Given the description of an element on the screen output the (x, y) to click on. 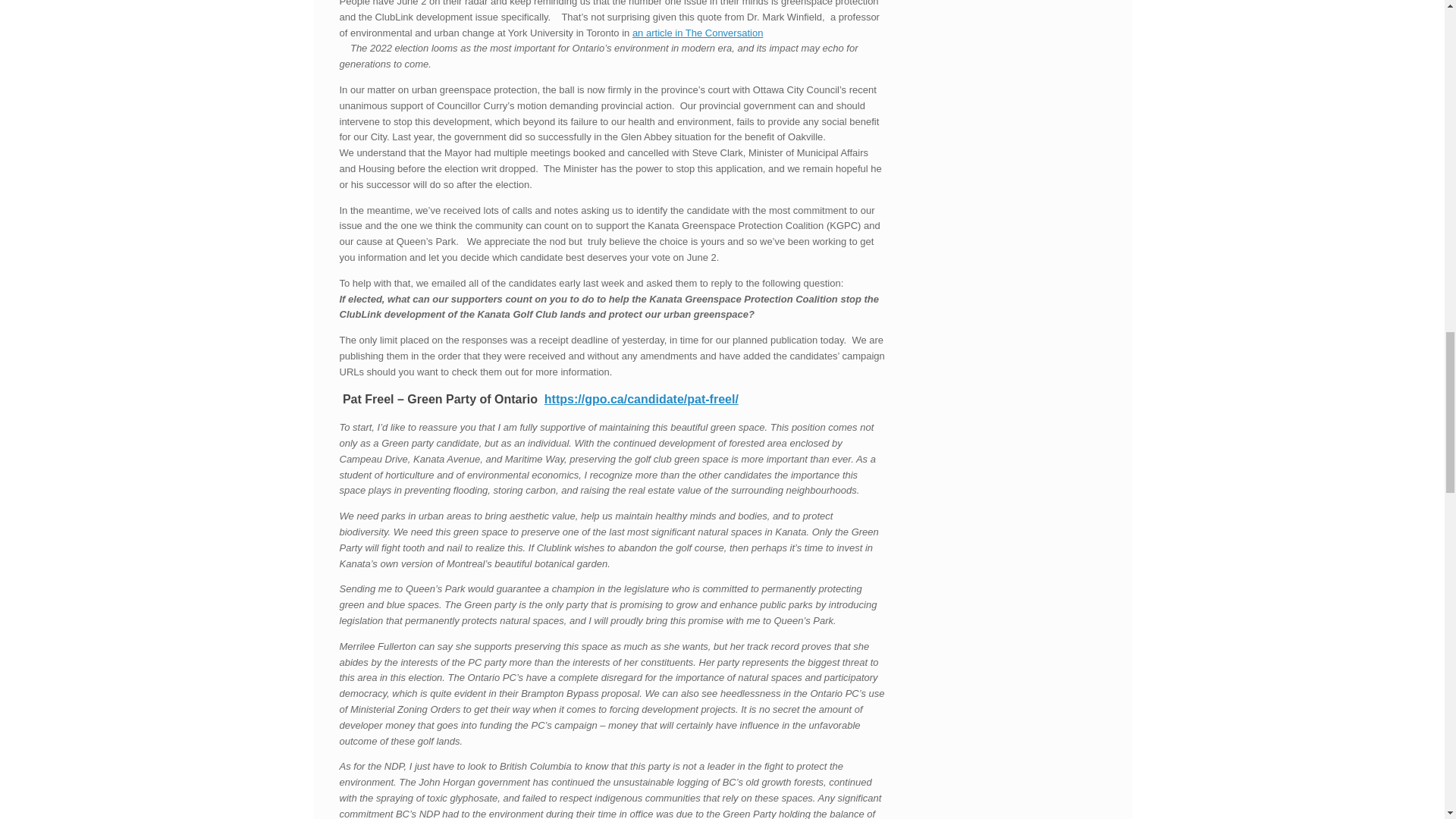
an article in The Conversation (696, 32)
